Given the description of an element on the screen output the (x, y) to click on. 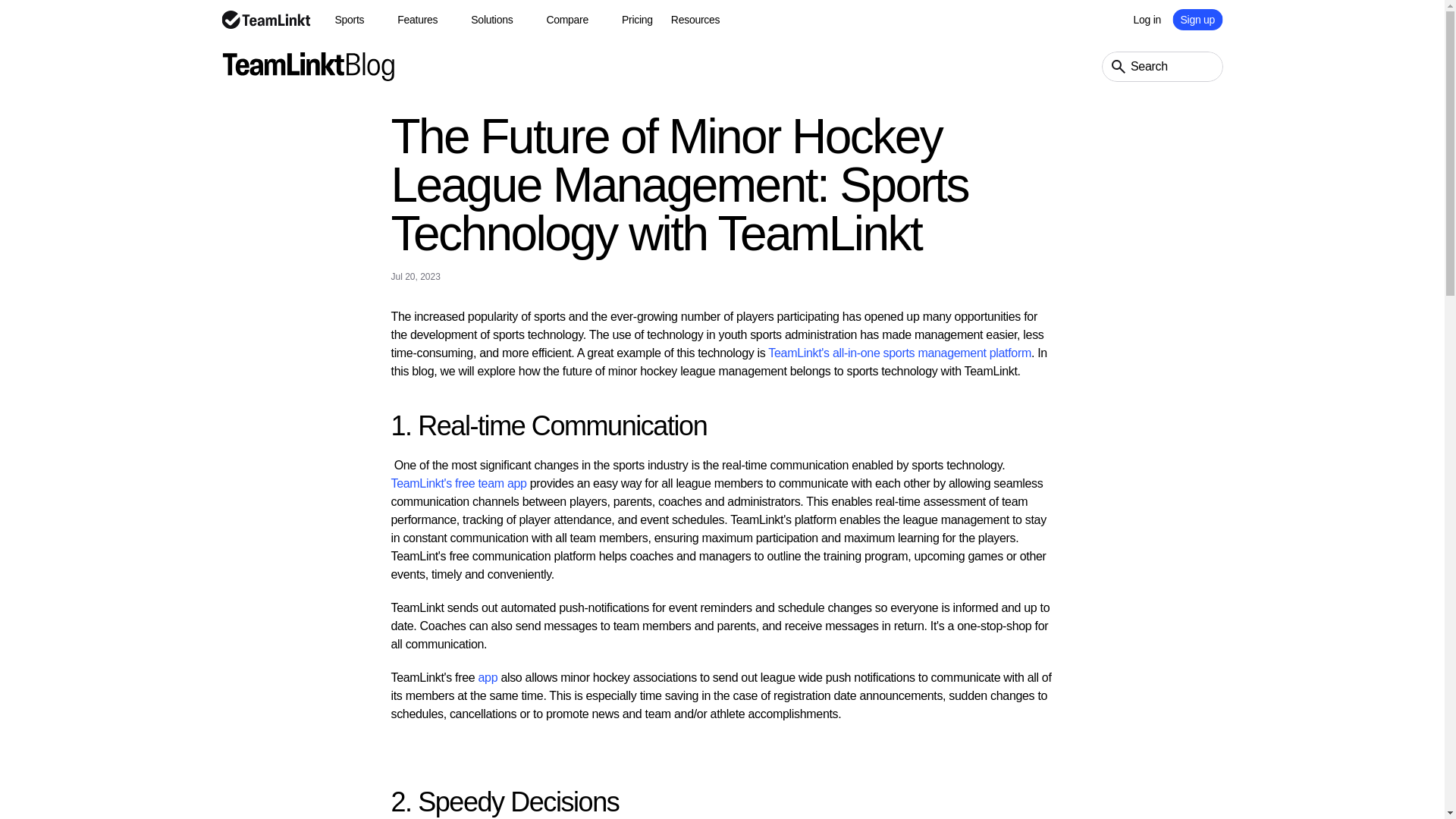
Pricing (636, 19)
Sign up (1198, 19)
app (487, 676)
TeamLinkt's free team app (459, 482)
TeamLinkt's all-in-one sports management platform (899, 352)
Log in (1146, 19)
